Given the description of an element on the screen output the (x, y) to click on. 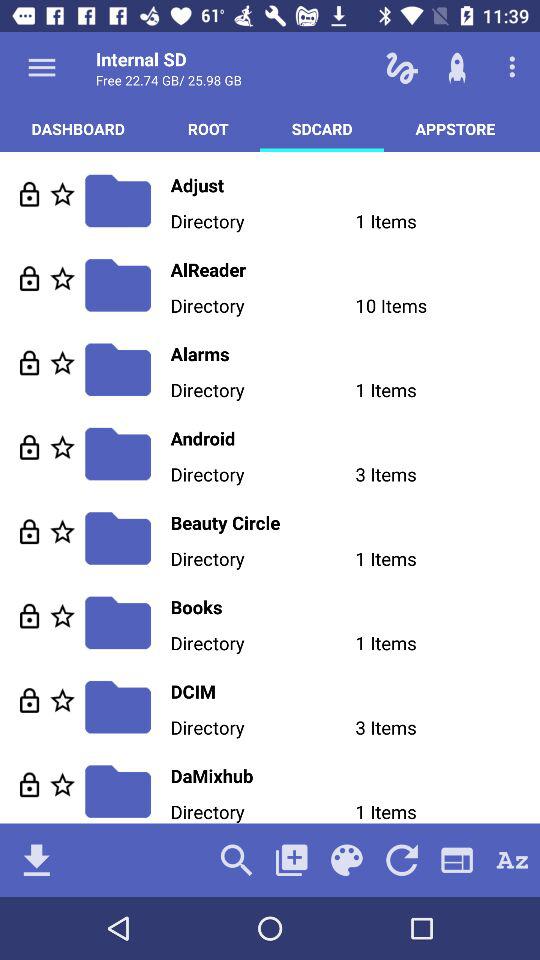
important to know (62, 700)
